Given the description of an element on the screen output the (x, y) to click on. 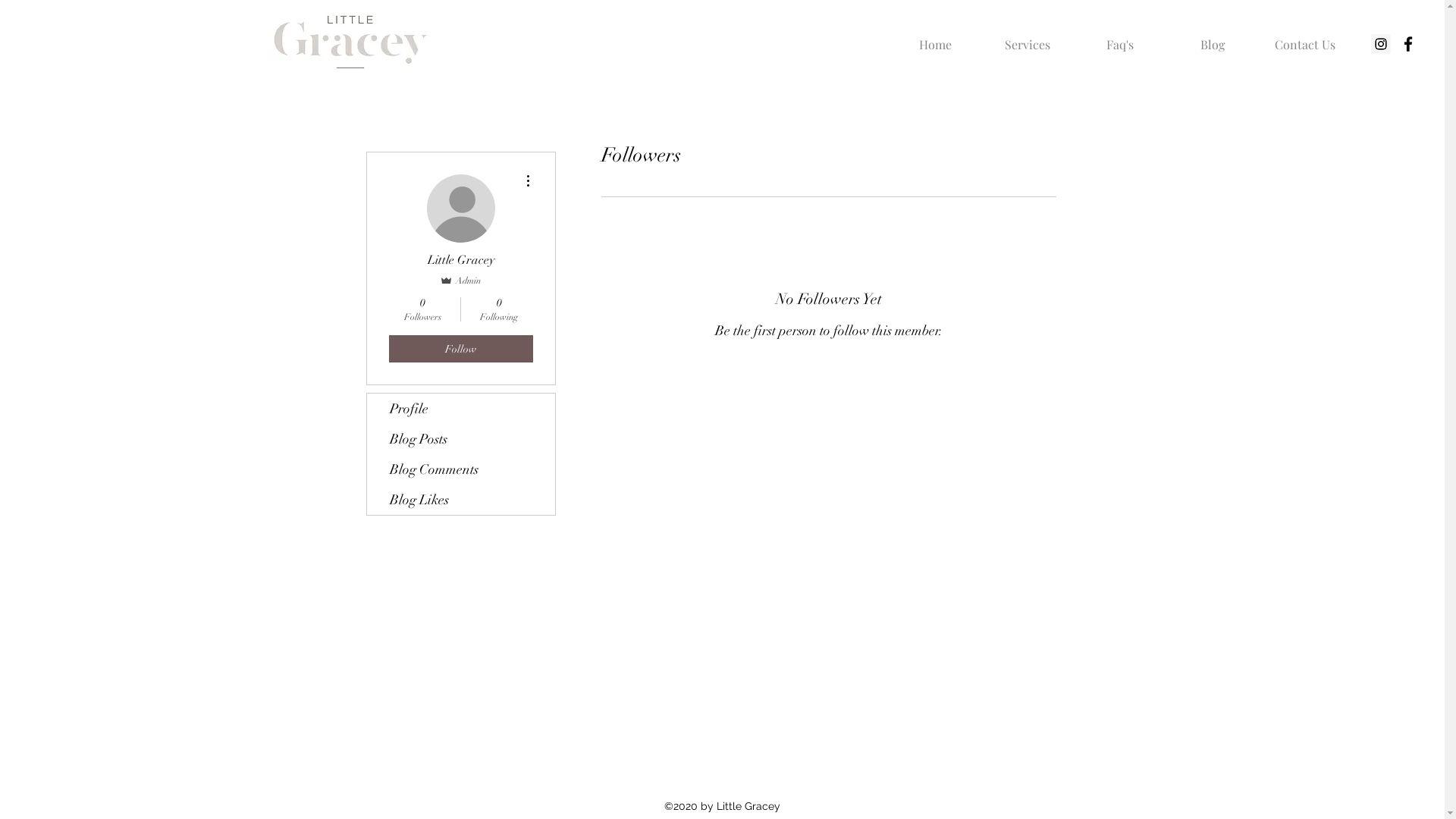
Home Element type: text (934, 37)
Faq's Element type: text (1119, 37)
0
Followers Element type: text (421, 309)
Followers Element type: hover (827, 379)
0
Following Element type: text (499, 309)
Blog Element type: text (1212, 37)
Blog Comments Element type: text (461, 469)
Follow Element type: text (460, 348)
Blog Posts Element type: text (461, 438)
Blog Likes Element type: text (461, 499)
Contact Us Element type: text (1304, 37)
Profile Element type: text (461, 408)
Services Element type: text (1027, 37)
